Given the description of an element on the screen output the (x, y) to click on. 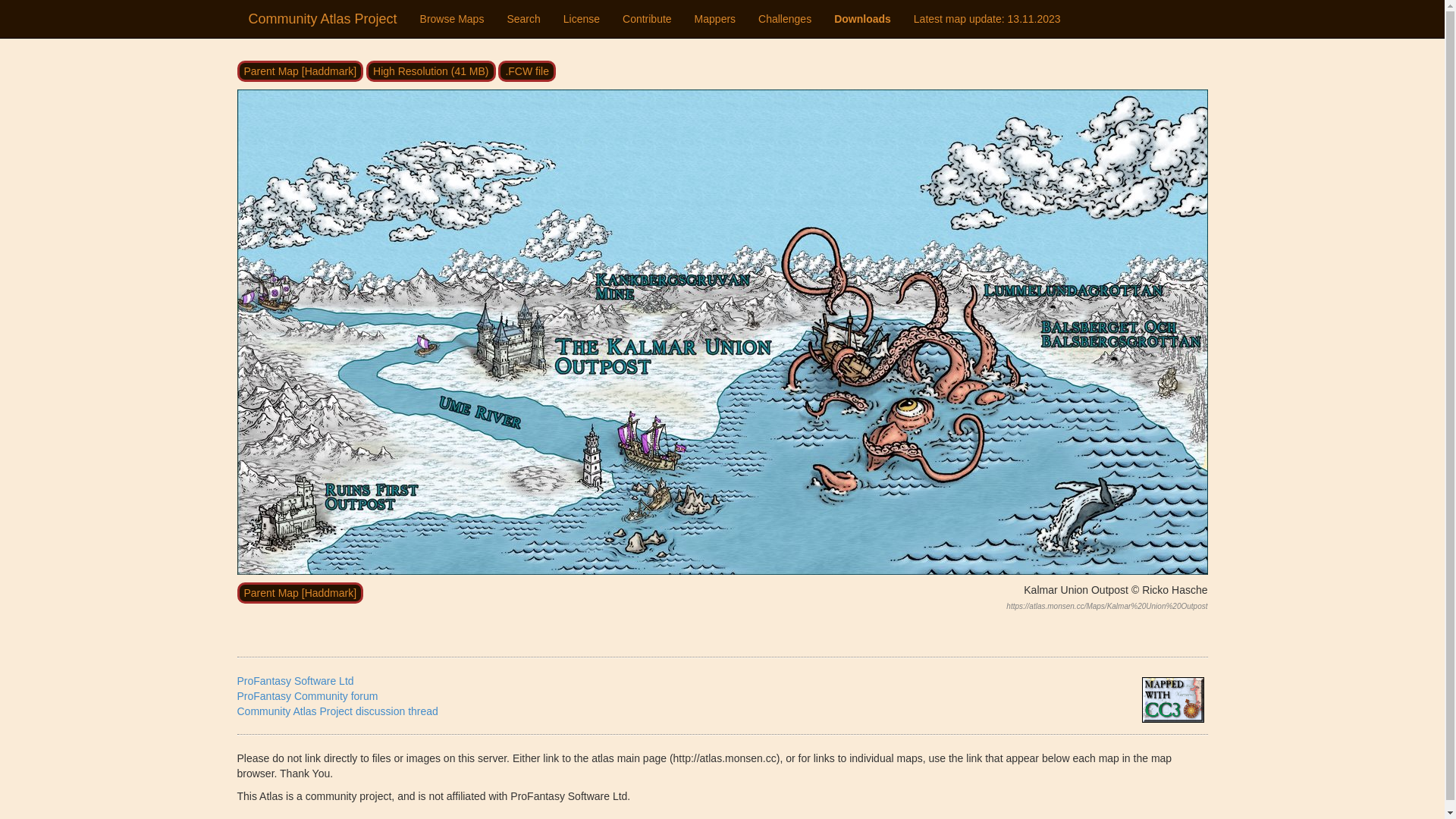
Parent Map [Haddmark] Element type: text (299, 70)
Mappers Element type: text (714, 18)
Community Atlas Project discussion thread Element type: text (336, 711)
Downloads Element type: text (862, 18)
https://atlas.monsen.cc/Maps/Kalmar%20Union%20Outpost Element type: text (1106, 606)
License Element type: text (581, 18)
Latest map update: 13.11.2023 Element type: text (987, 18)
Contribute Element type: text (647, 18)
Browse Maps Element type: text (451, 18)
Search Element type: text (523, 18)
Challenges Element type: text (784, 18)
ProFantasy Software Ltd Element type: text (294, 680)
Community Atlas Project Element type: text (321, 18)
.FCW file Element type: text (526, 70)
High Resolution (41 MB) Element type: text (430, 70)
ProFantasy Community forum Element type: text (306, 696)
Parent Map [Haddmark] Element type: text (299, 592)
